Given the description of an element on the screen output the (x, y) to click on. 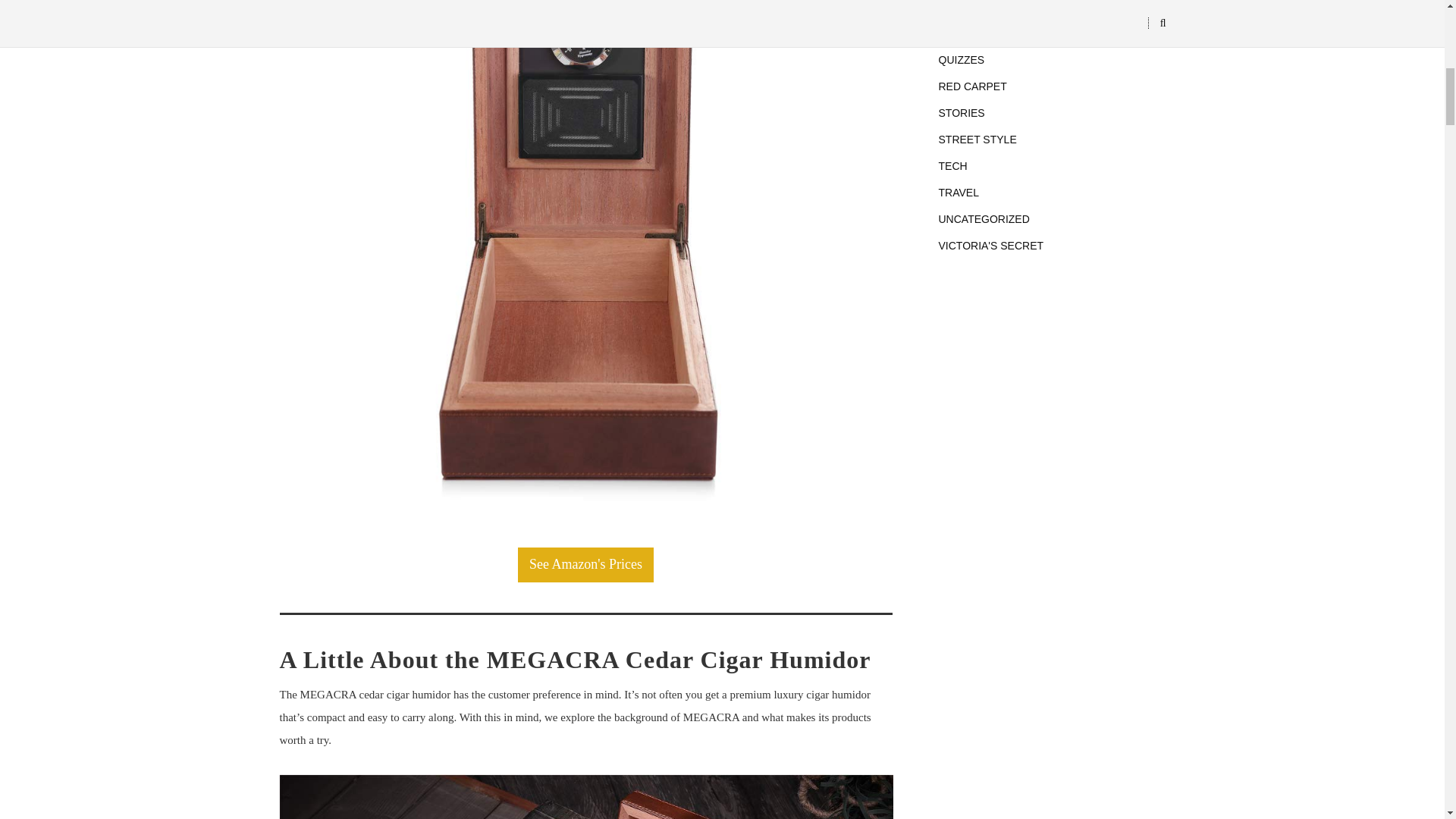
See Amazon's Prices (585, 564)
MEGACRA cedar cigar humidor 7 (586, 796)
